Given the description of an element on the screen output the (x, y) to click on. 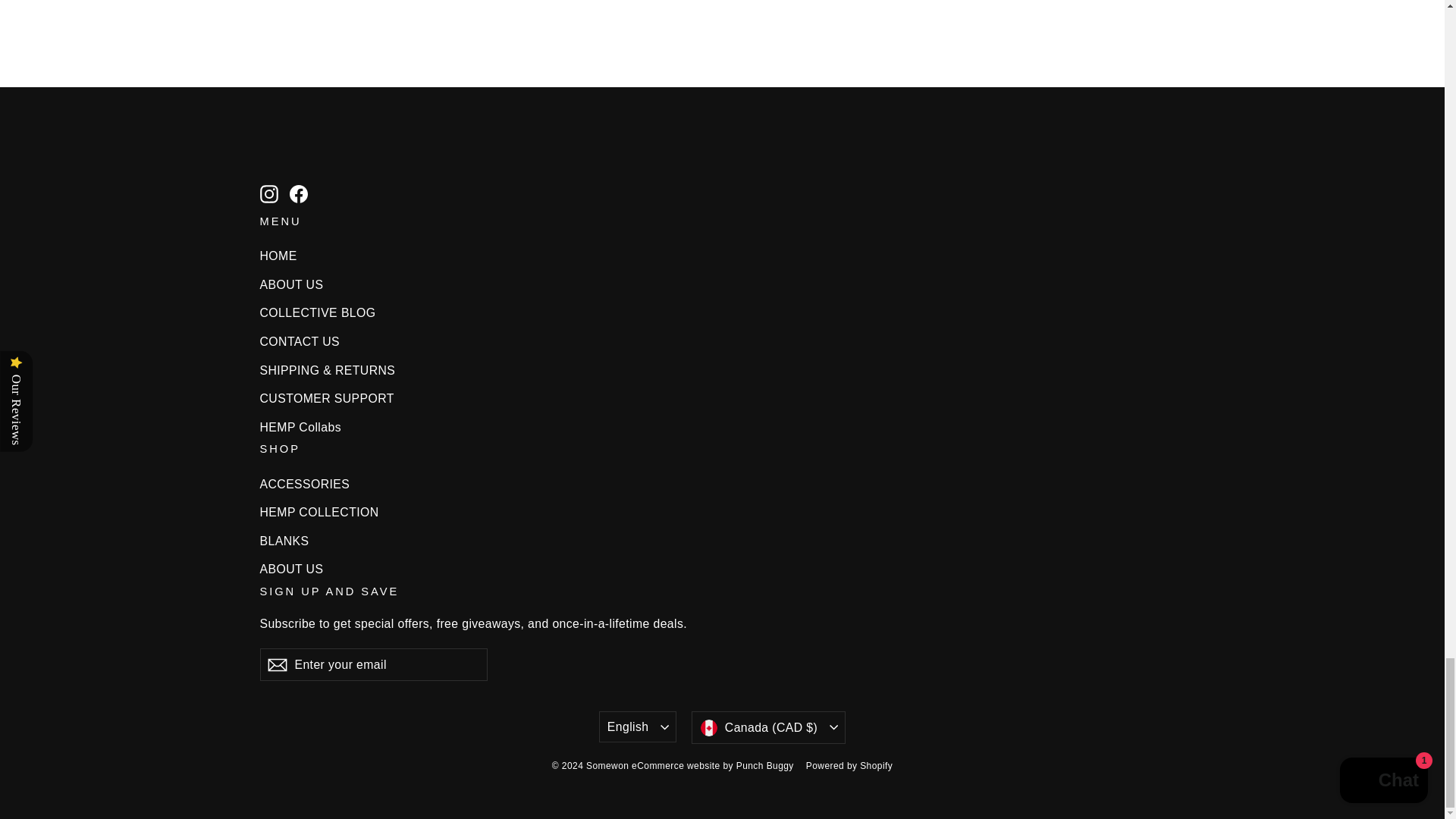
Somewon on Instagram (268, 192)
Somewon on Facebook (298, 192)
